Given the description of an element on the screen output the (x, y) to click on. 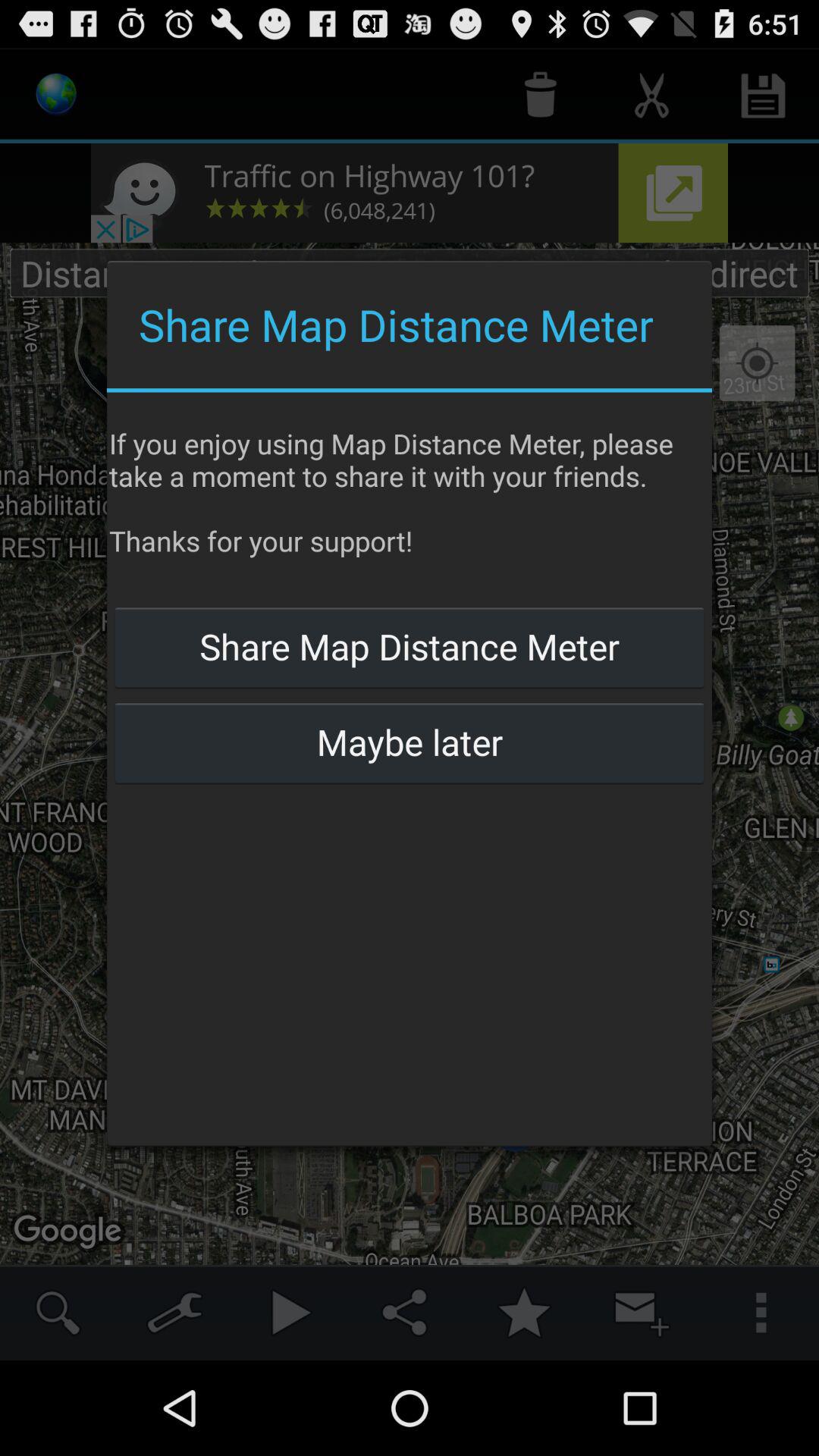
click maybe later (409, 741)
